Given the description of an element on the screen output the (x, y) to click on. 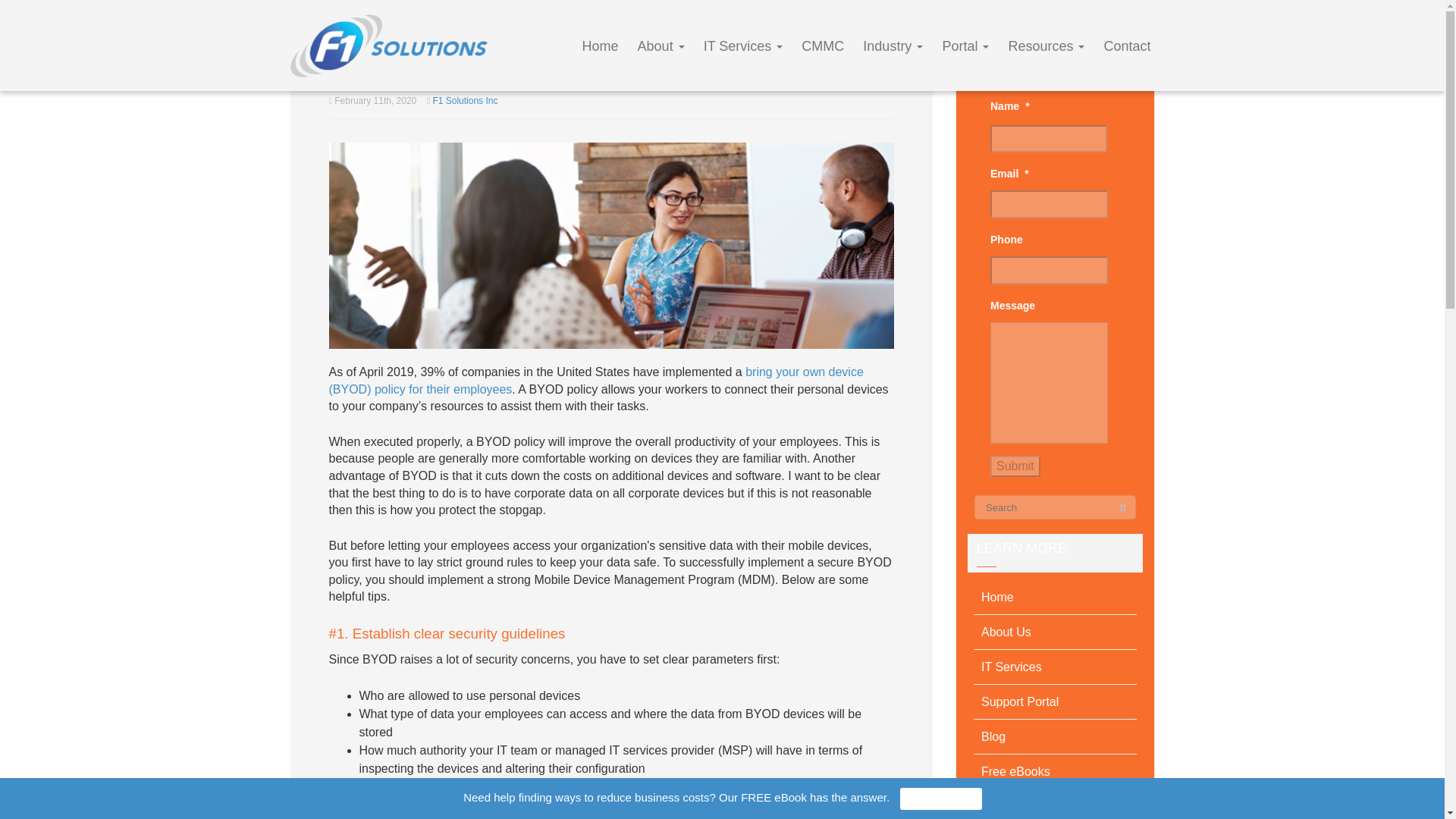
Search (1122, 508)
Submit (1015, 466)
F1 Solutions Inc (464, 100)
Resources (1045, 45)
Submit (1015, 466)
IT Services (743, 45)
Home (1055, 597)
Posts by F1 Solutions Inc (464, 100)
